Given the description of an element on the screen output the (x, y) to click on. 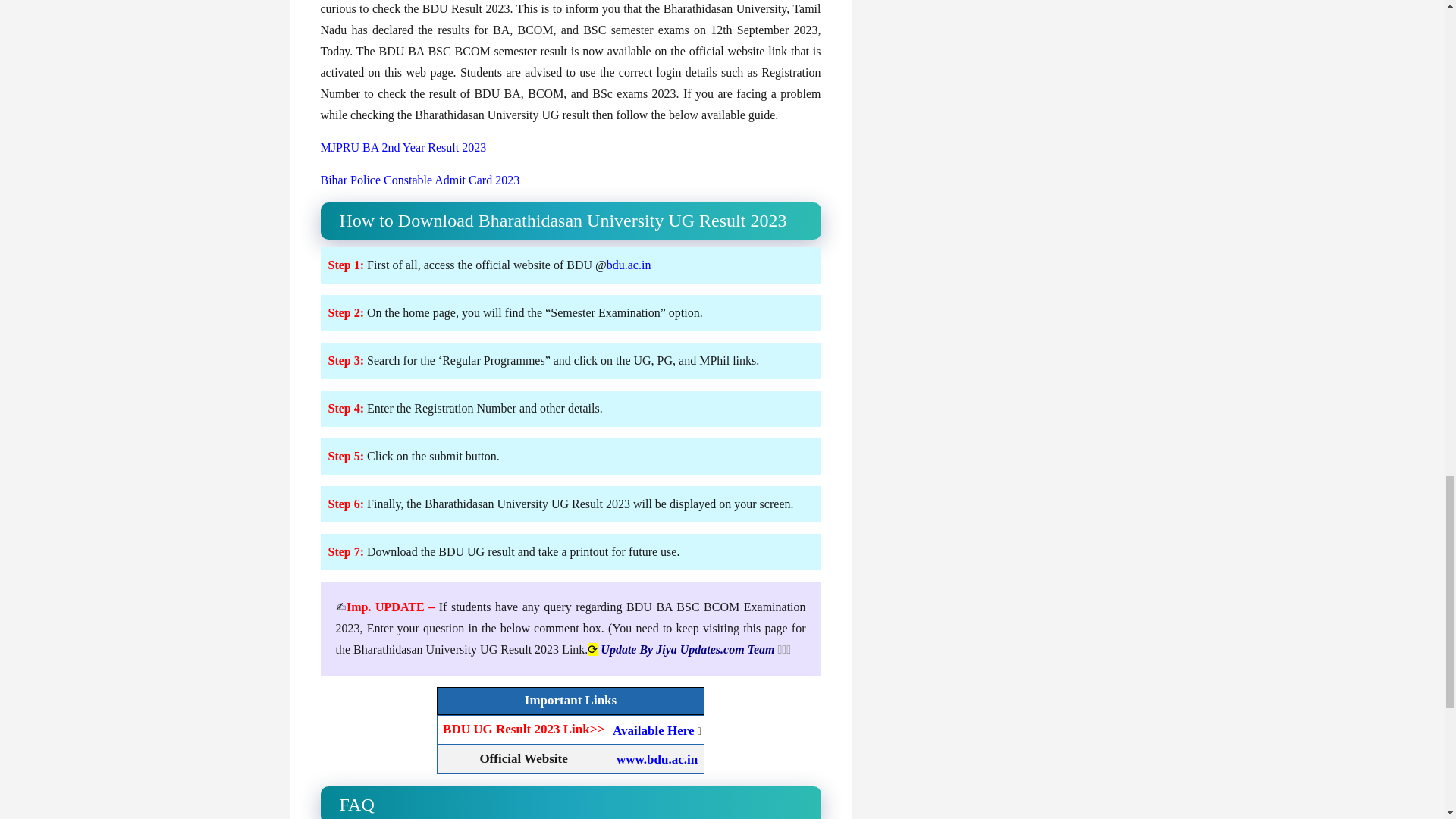
Bihar Police Constable Admit Card 2023 (419, 179)
Available Here (653, 730)
www.bdu.ac.in (656, 759)
MJPRU BA 2nd Year Result 2023 (403, 146)
